Given the description of an element on the screen output the (x, y) to click on. 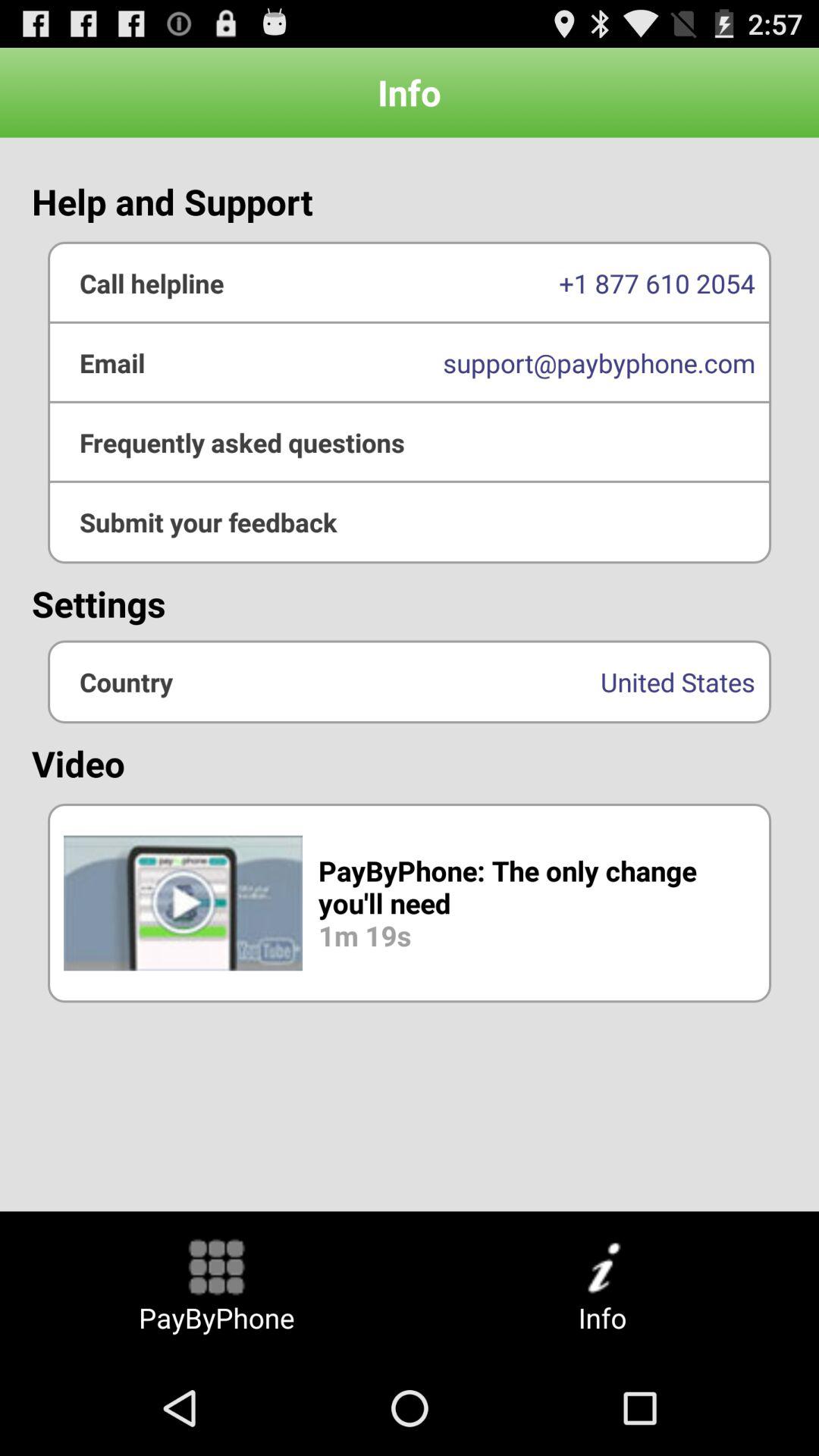
go to faq (409, 442)
